Given the description of an element on the screen output the (x, y) to click on. 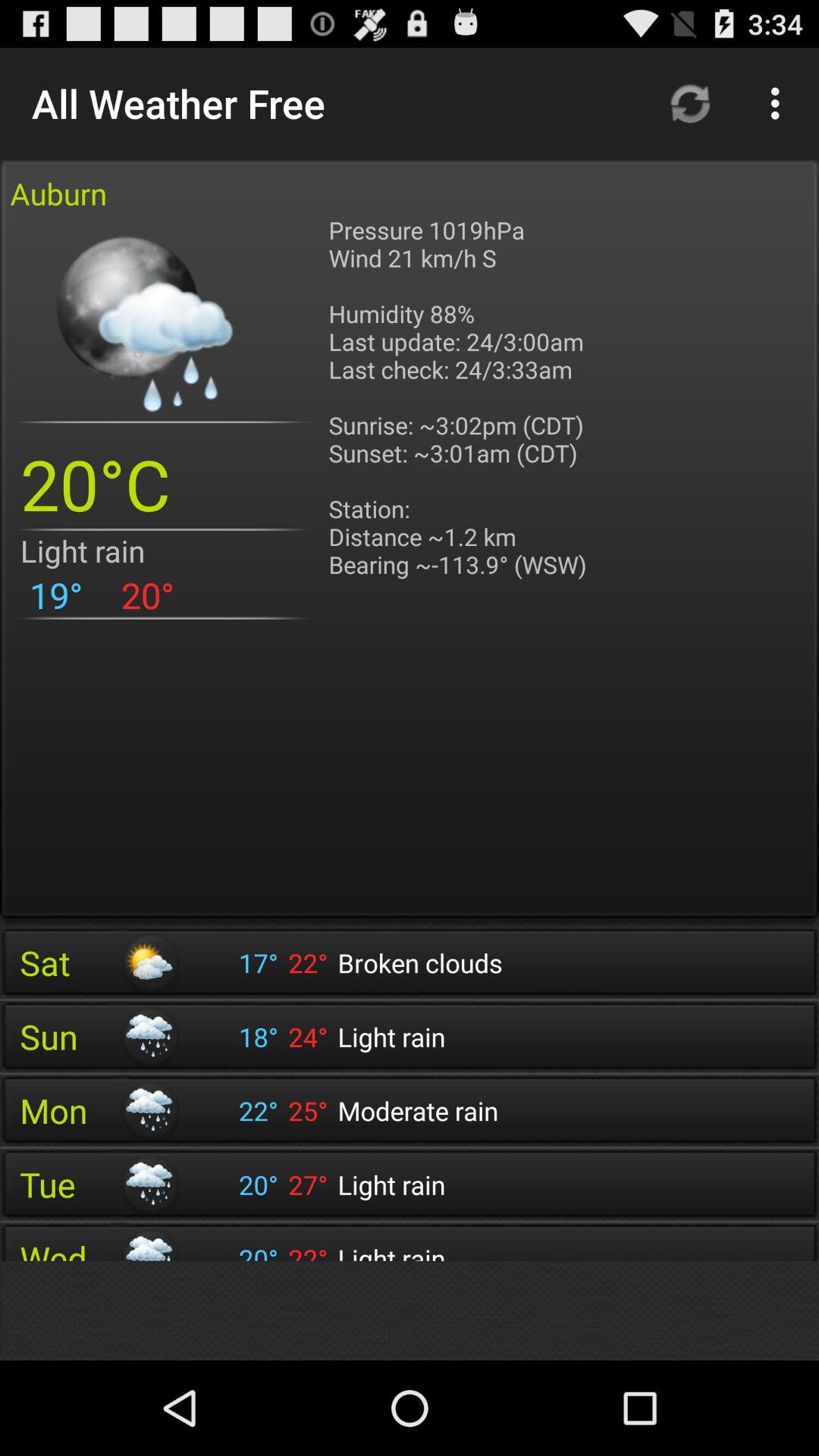
cloud image right to sun (149, 1036)
click on the icon next to mon (149, 1110)
click on the cloud image right to wed (149, 1244)
select the text on the right next to the 1st image on the web page (461, 412)
